Given the description of an element on the screen output the (x, y) to click on. 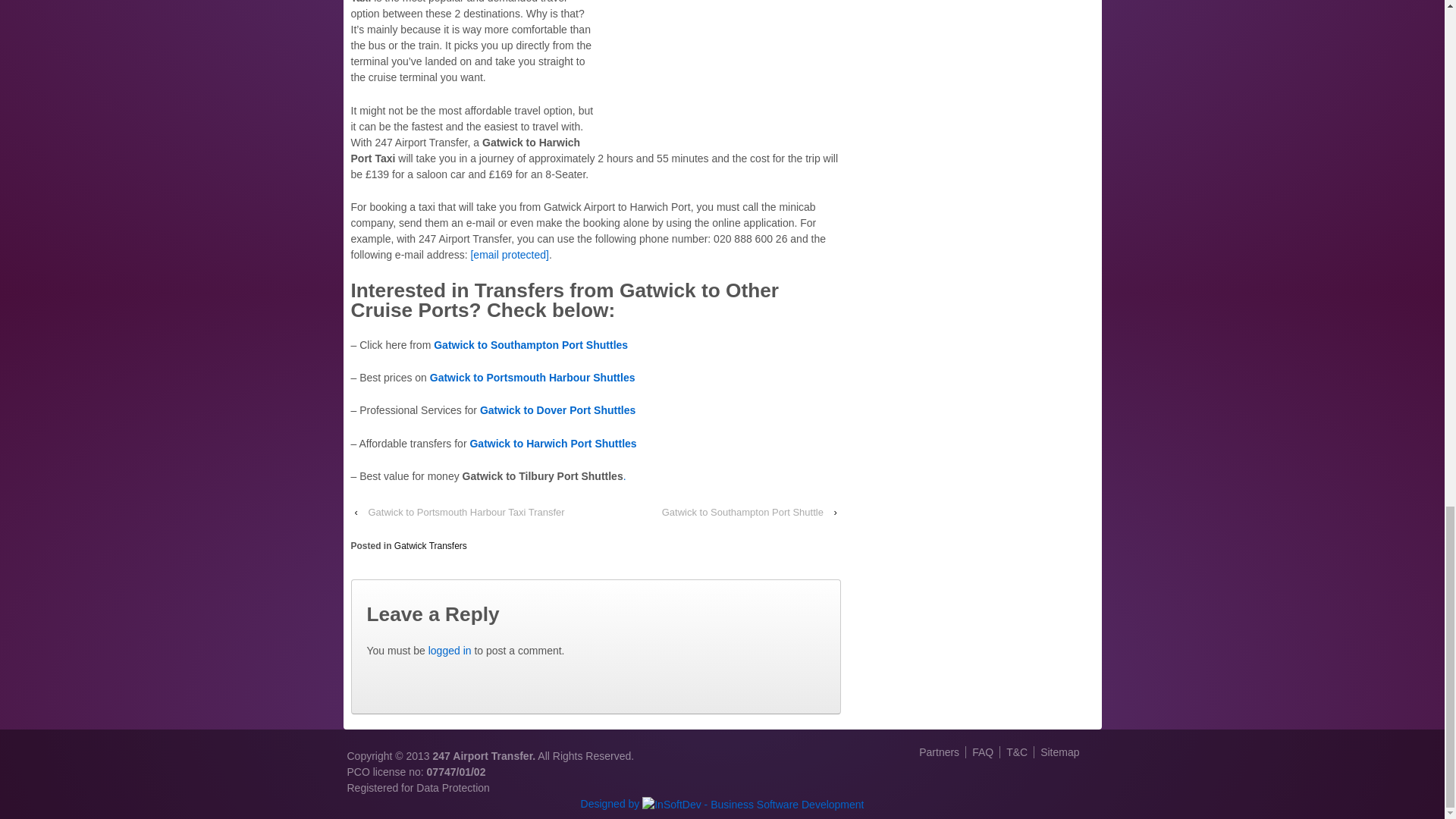
Gatwick to Portsmouth Harbour Shuttles (531, 377)
Gatwick to Southampton Port Shuttle (742, 511)
Shuttles Gatwick Southampton Port (530, 345)
 Gatwick to Dover Port Shuttles (555, 410)
Gatwick to Southampton Port Shuttles (530, 345)
logged in (449, 650)
FAQ (981, 752)
shuttle gatwick portsmouth harbour (531, 377)
Gatwick to Harwich Port Shuttles (552, 443)
Partners (941, 752)
